Given the description of an element on the screen output the (x, y) to click on. 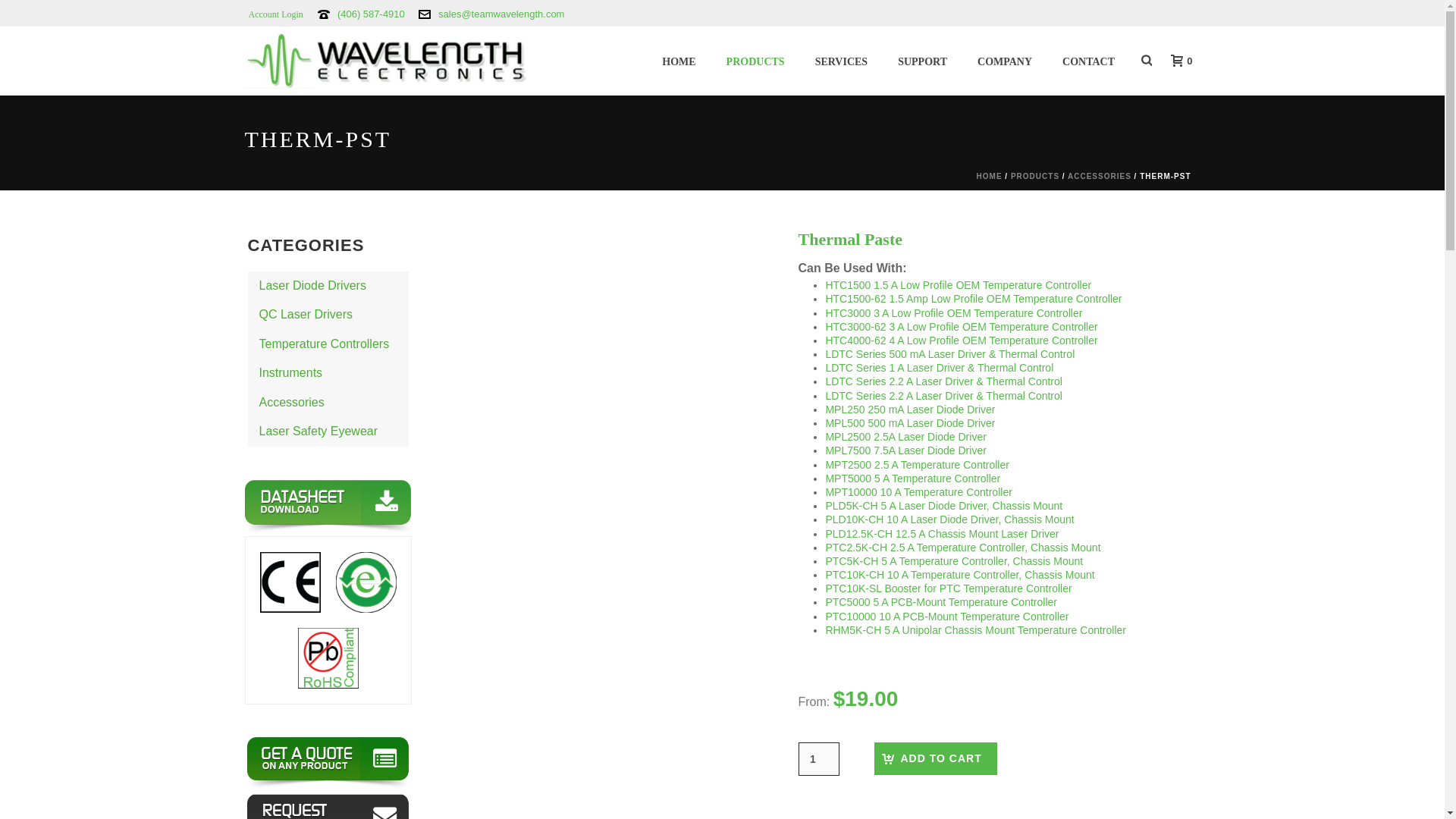
HOME (678, 60)
PRODUCTS (755, 60)
RoHS Compliant (327, 658)
CONTACT (1087, 60)
Request Information (328, 806)
COMPANY (1004, 60)
SUPPORT (922, 60)
China RoHS (365, 582)
CE Compliant (289, 582)
SUPPORT (922, 60)
PRODUCTS (755, 60)
HOME (678, 60)
Get A Quote (328, 764)
Account Login (274, 14)
1 (817, 758)
